Given the description of an element on the screen output the (x, y) to click on. 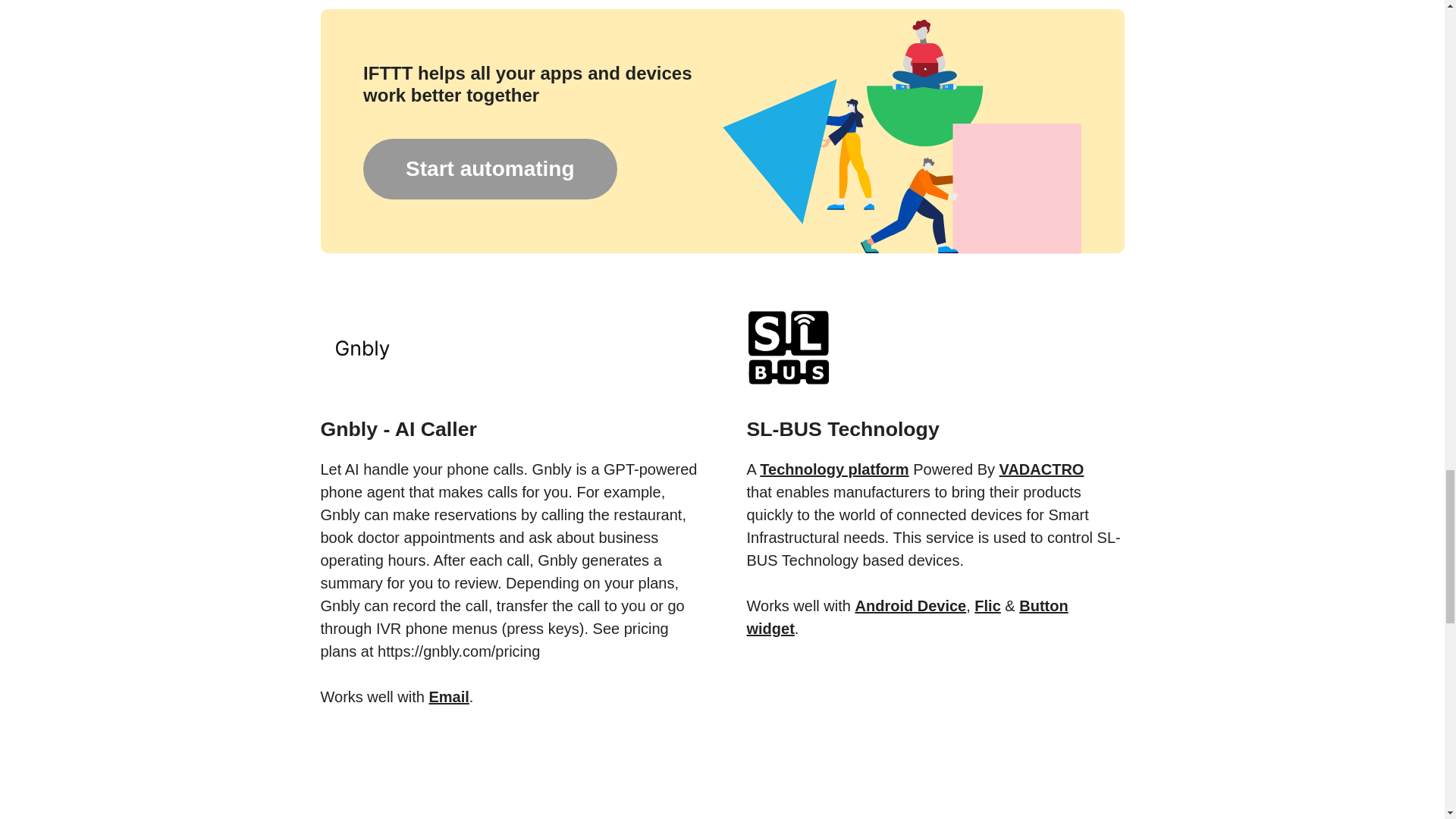
Start automating (488, 168)
Gnbly - AI Caller (508, 409)
